Given the description of an element on the screen output the (x, y) to click on. 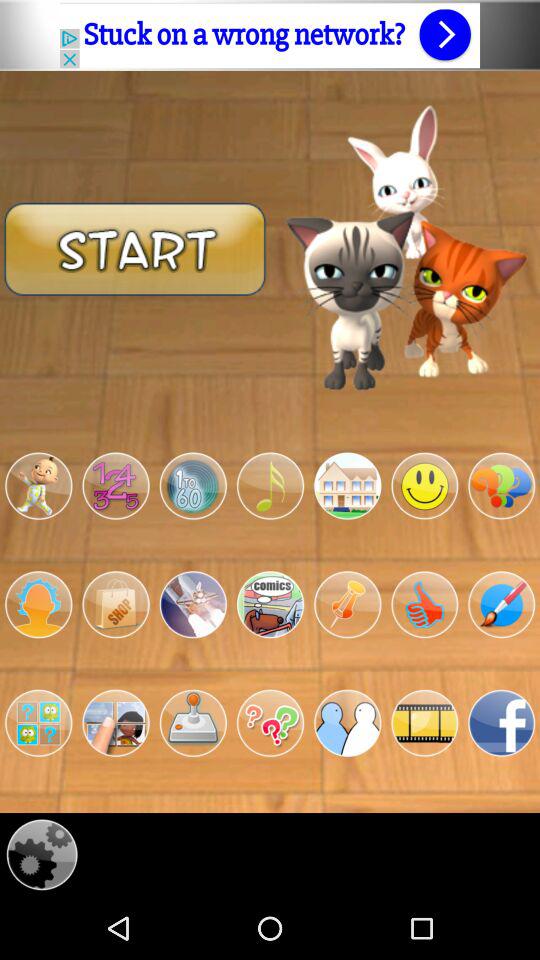
start button (135, 248)
